Given the description of an element on the screen output the (x, y) to click on. 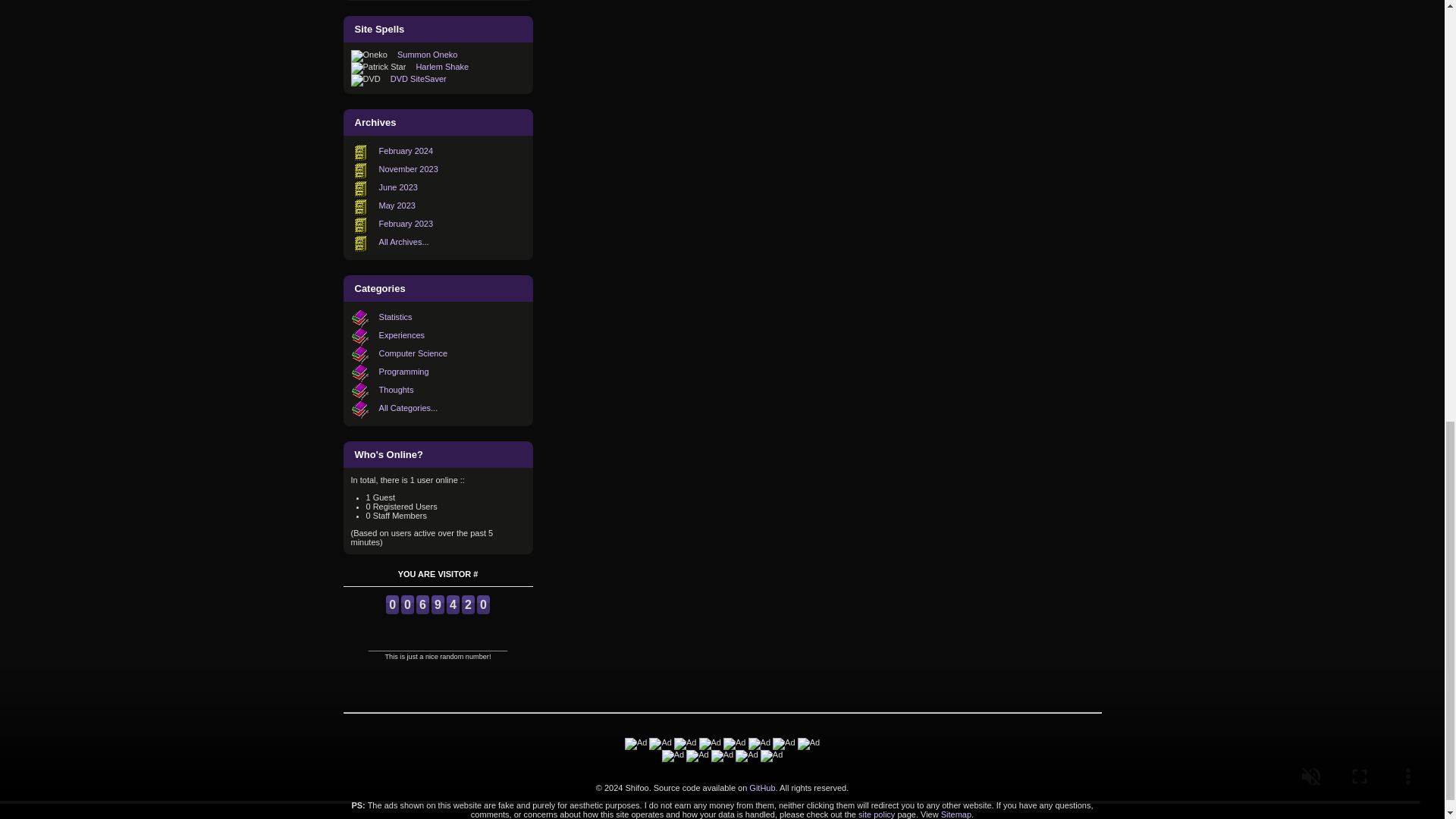
Experiences (401, 334)
Programming (403, 370)
May 2023 (396, 204)
February 2023 (405, 223)
Sitemap (955, 813)
DVD SiteSaver (418, 78)
Summon Oneko (427, 53)
Computer Science (413, 352)
site policy (877, 813)
All Archives... (403, 241)
